Given the description of an element on the screen output the (x, y) to click on. 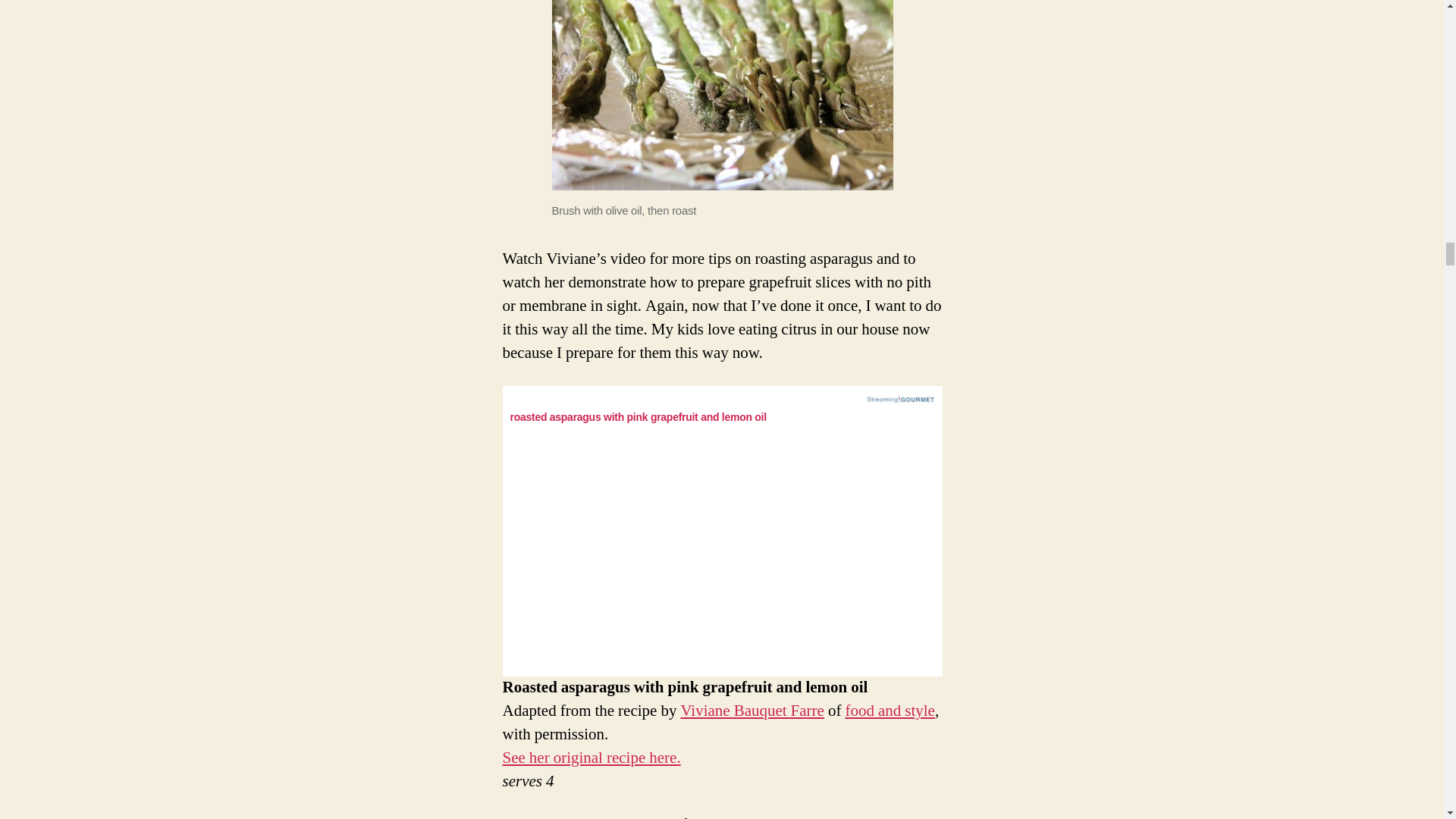
P4175114 (722, 95)
